Given the description of an element on the screen output the (x, y) to click on. 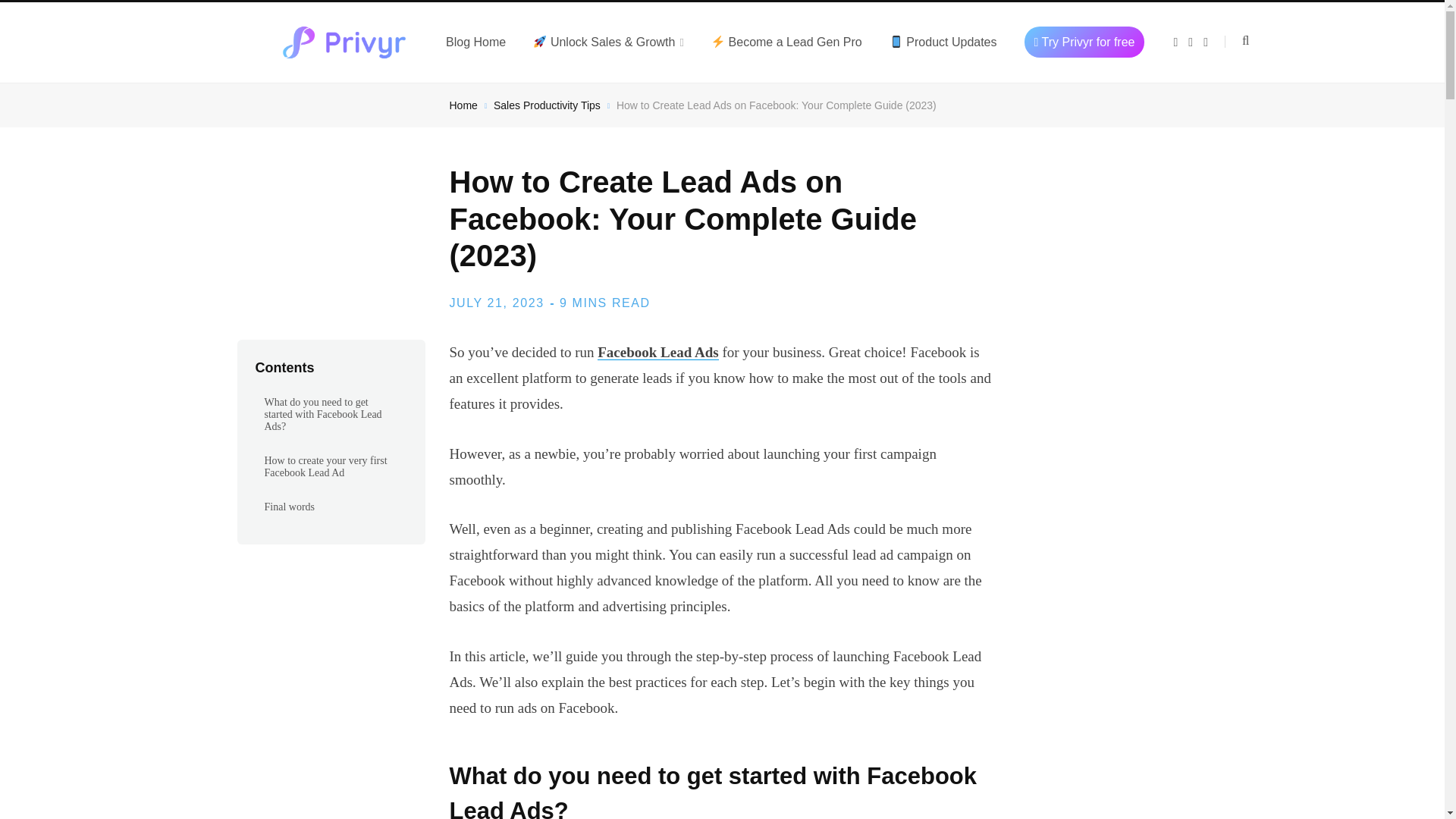
Facebook Lead Ads (656, 351)
Try Privyr for free (1084, 41)
What do you need to get started with Facebook Lead Ads? (721, 789)
Blog Home (475, 41)
Become a Lead Gen Pro (786, 41)
Search (1236, 41)
Sales Productivity Tips (546, 105)
Final words (330, 507)
Product Updates (943, 41)
Privyr Blog (344, 42)
What do you need to get started with Facebook Lead Ads? (330, 414)
Home (462, 105)
How to create your very first Facebook Lead Ad (330, 466)
JULY 21, 2023 (495, 302)
